Given the description of an element on the screen output the (x, y) to click on. 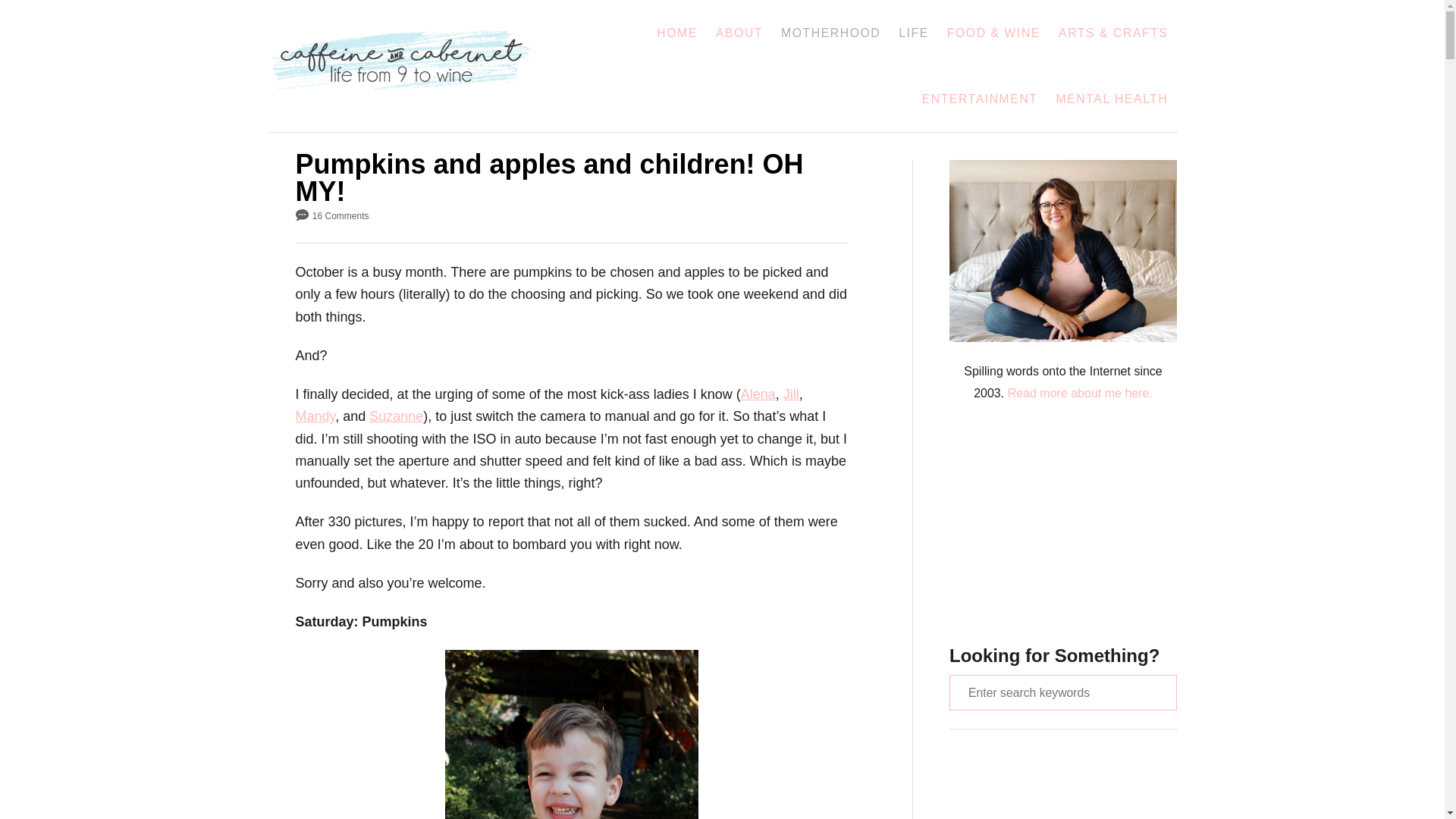
MOTHERHOOD (830, 32)
Jill (791, 394)
ABOUT (738, 32)
Caffeine and Cabernet (409, 65)
Mandy (315, 416)
MENTAL HEALTH (1111, 99)
Alena (758, 394)
Suzanne (396, 416)
ENTERTAINMENT (979, 99)
LIFE (913, 32)
